Given the description of an element on the screen output the (x, y) to click on. 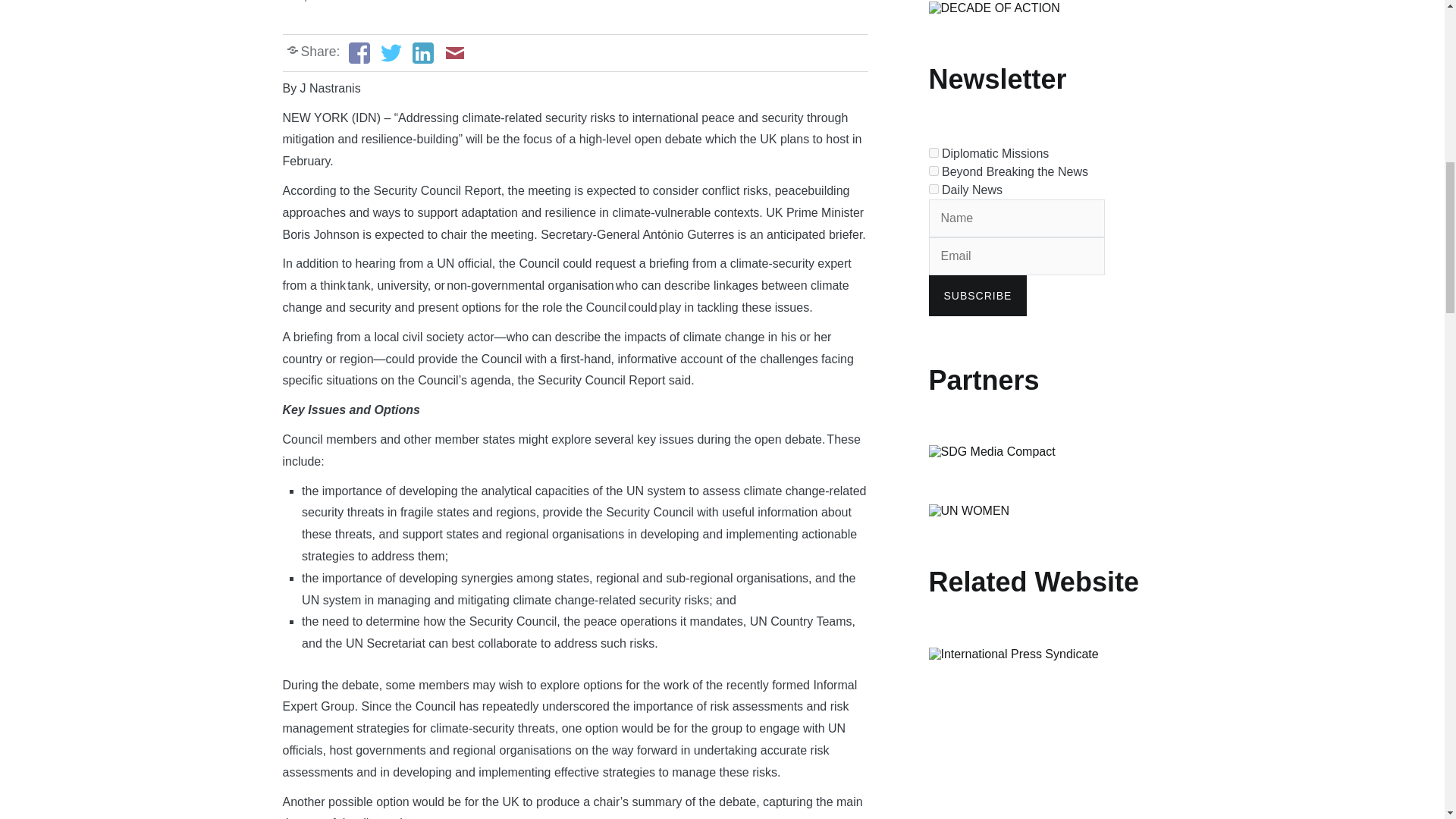
10 (932, 189)
Subscribe (977, 295)
8 (932, 153)
9 (932, 171)
